Given the description of an element on the screen output the (x, y) to click on. 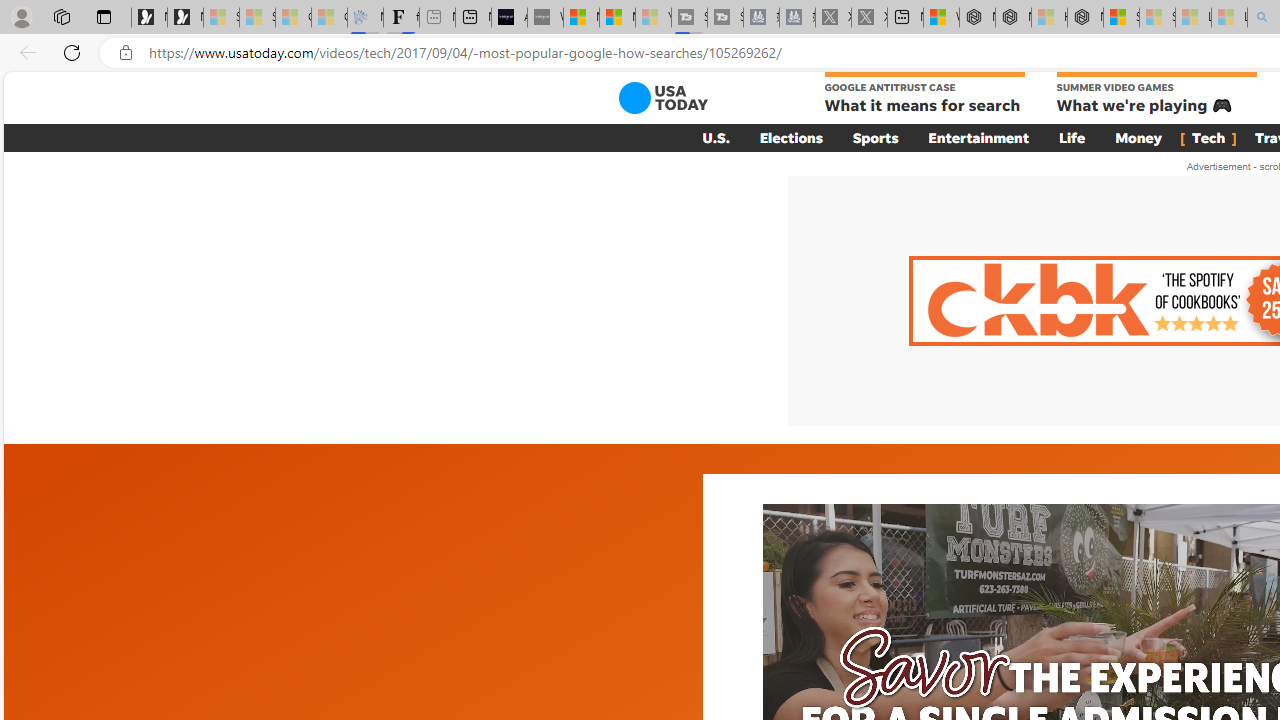
Life (1072, 137)
What's the best AI voice generator? - voice.ai - Sleeping (545, 17)
USA TODAY (662, 97)
Elections (790, 137)
AI Voice Changer for PC and Mac - Voice.ai (509, 17)
U.S. (715, 137)
